Given the description of an element on the screen output the (x, y) to click on. 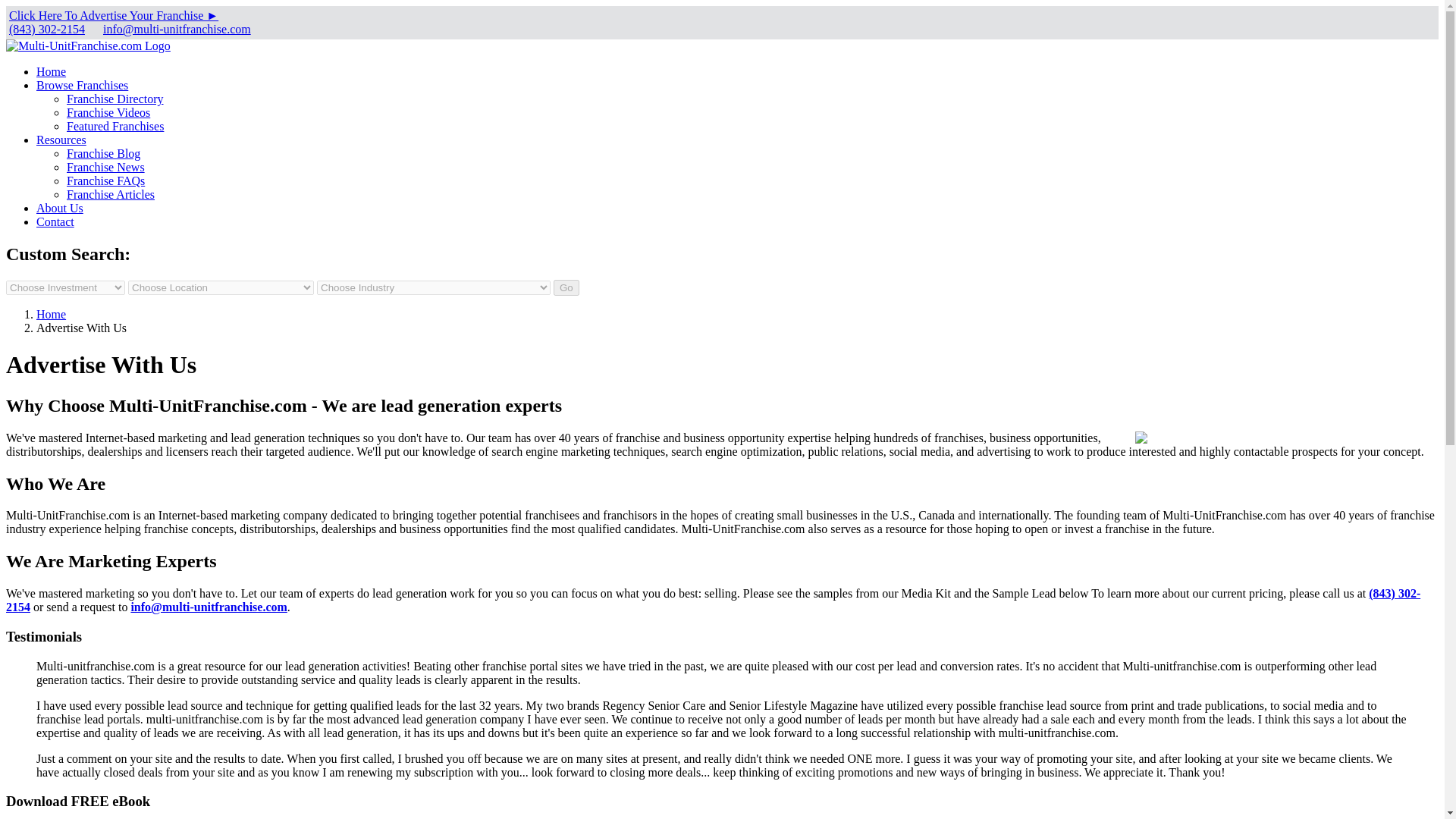
Resources (60, 139)
Franchise Directory (114, 98)
Franchise Videos (107, 112)
Franchise News (105, 166)
Browse Franchises (82, 84)
Home (50, 314)
Home (50, 71)
Franchise Articles (110, 194)
About Us (59, 207)
Featured Franchises (114, 125)
Franchise FAQs (105, 180)
Go (566, 287)
Contact (55, 221)
Franchise Blog (102, 153)
